Given the description of an element on the screen output the (x, y) to click on. 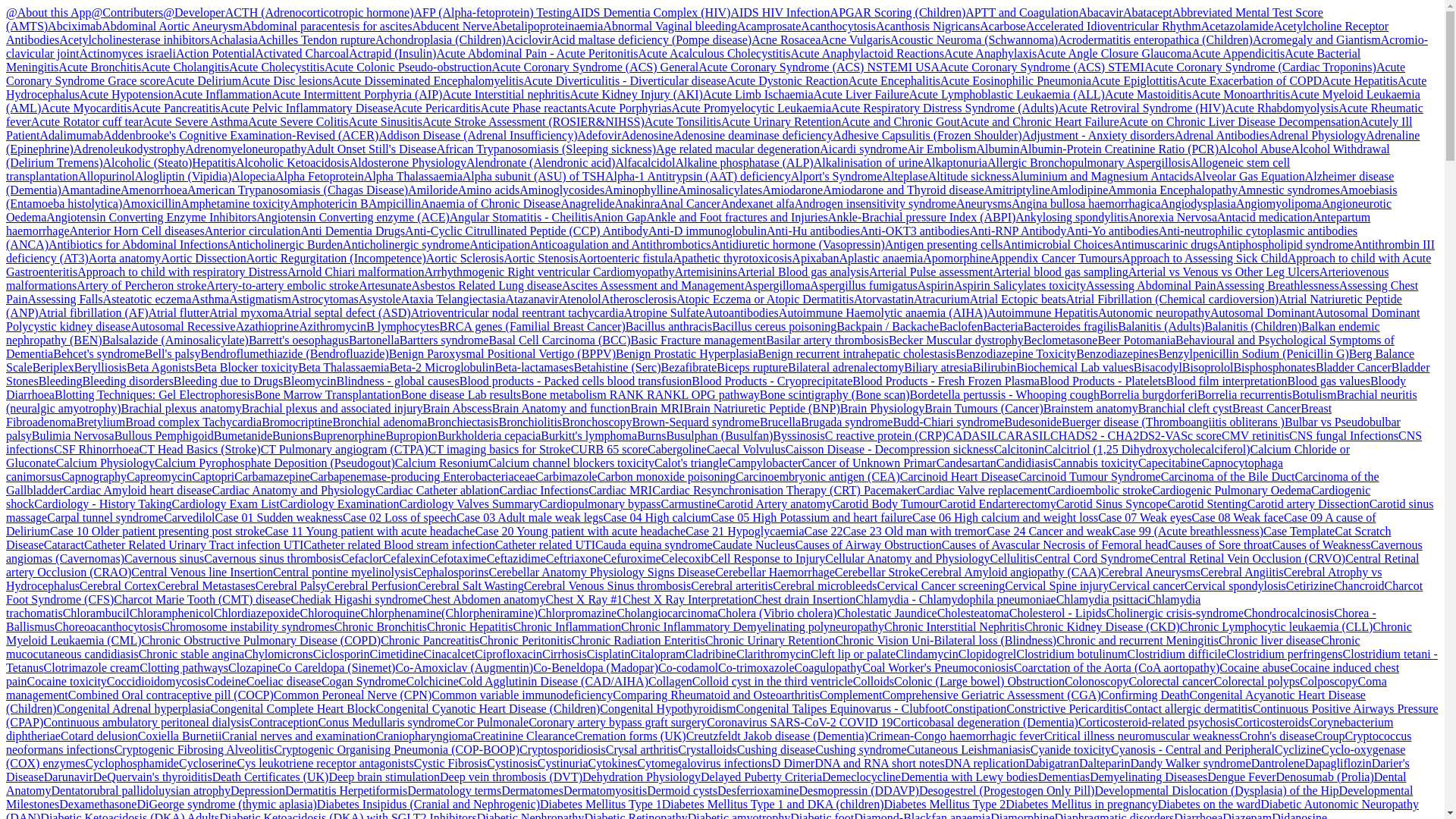
Acanthosis Nigricans (927, 25)
Abciximab (74, 25)
Abetalipoproteinaemia (548, 25)
Acne Rosacea (786, 39)
Abducent Nerve (452, 25)
Abciximab (74, 25)
Abdominal paracentesis for ascites (327, 25)
Abdominal Aortic Aneurysm (172, 25)
Abetalipoproteinaemia (548, 25)
AIDS HIV Infection (779, 11)
